Given the description of an element on the screen output the (x, y) to click on. 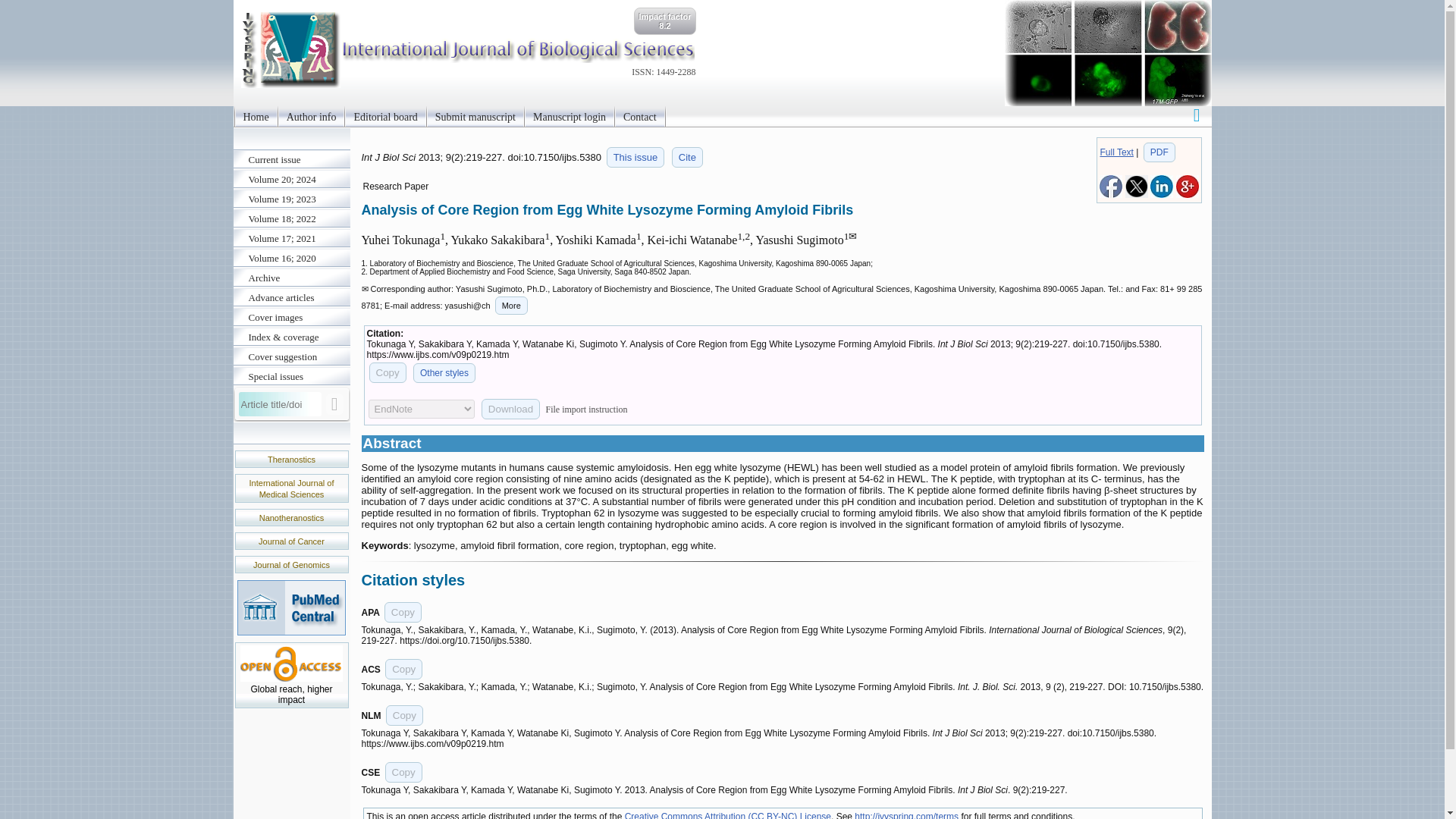
This issue (636, 157)
Citation styles for this article (687, 157)
Contact (639, 117)
PDF (1158, 152)
Journal of Cancer (291, 541)
Issue 2 listing (636, 157)
Copy (403, 611)
Full Text (1115, 152)
Copy (387, 372)
Share on linkedin (1161, 194)
